Given the description of an element on the screen output the (x, y) to click on. 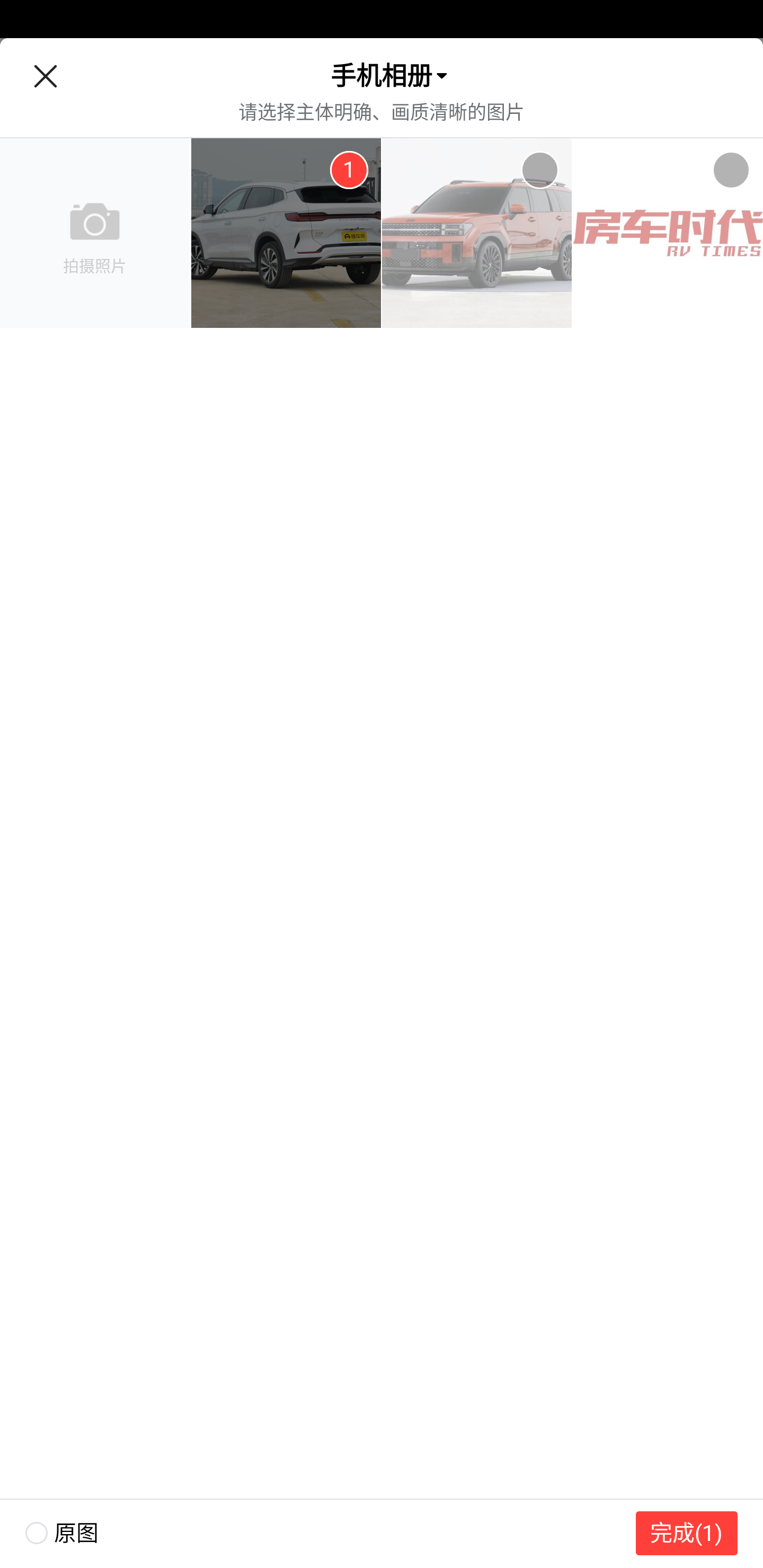
返回 (44, 75)
手机相册 (381, 75)
拍摄照片 (94, 232)
图片1 (285, 232)
已选中1 1 (348, 169)
图片2 (476, 232)
未选中 (539, 169)
图片3 (668, 232)
未选中 (731, 169)
原图 (49, 1533)
完成(1) 完成 (1) (686, 1533)
